Given the description of an element on the screen output the (x, y) to click on. 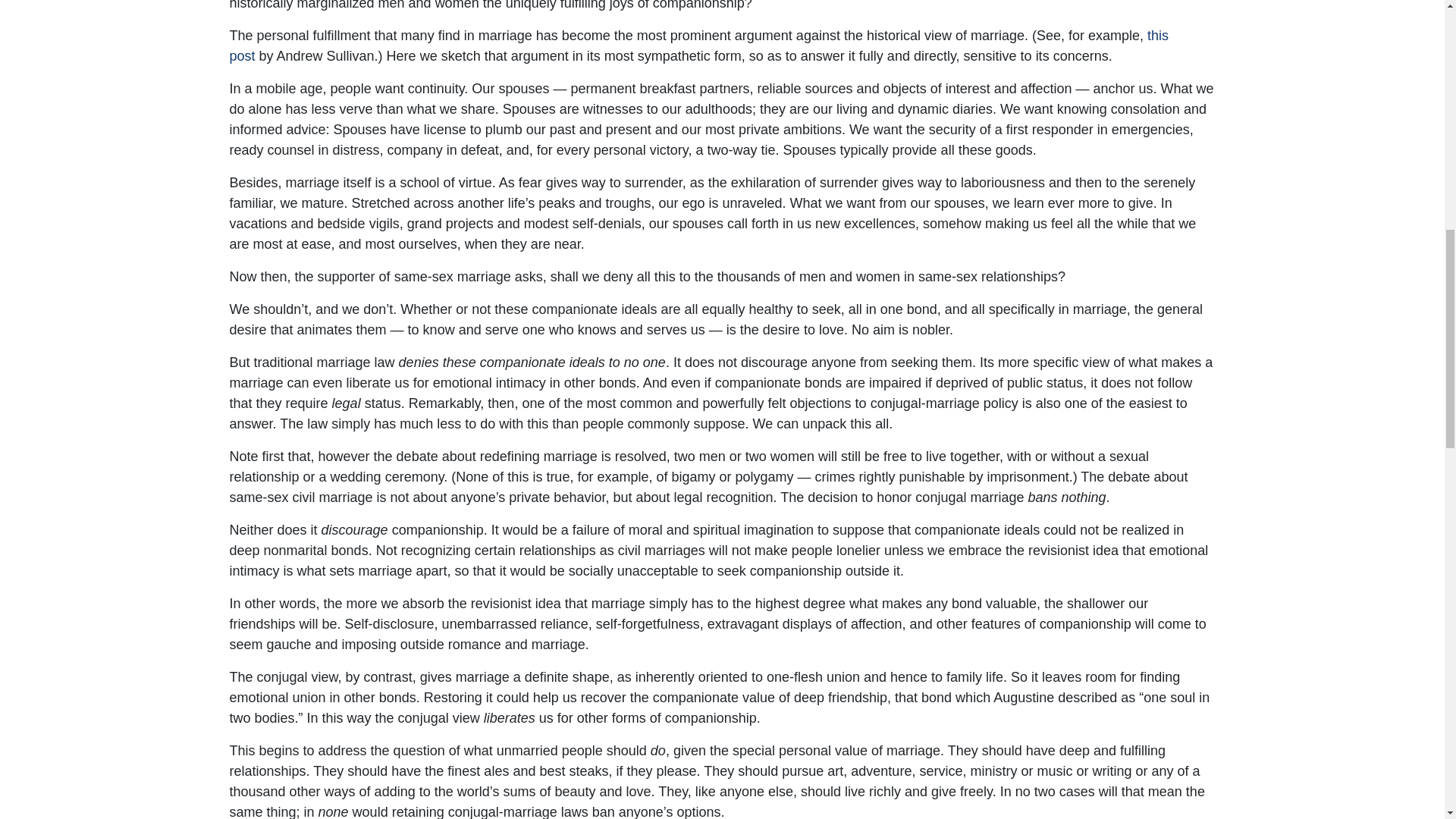
this post (698, 45)
